Given the description of an element on the screen output the (x, y) to click on. 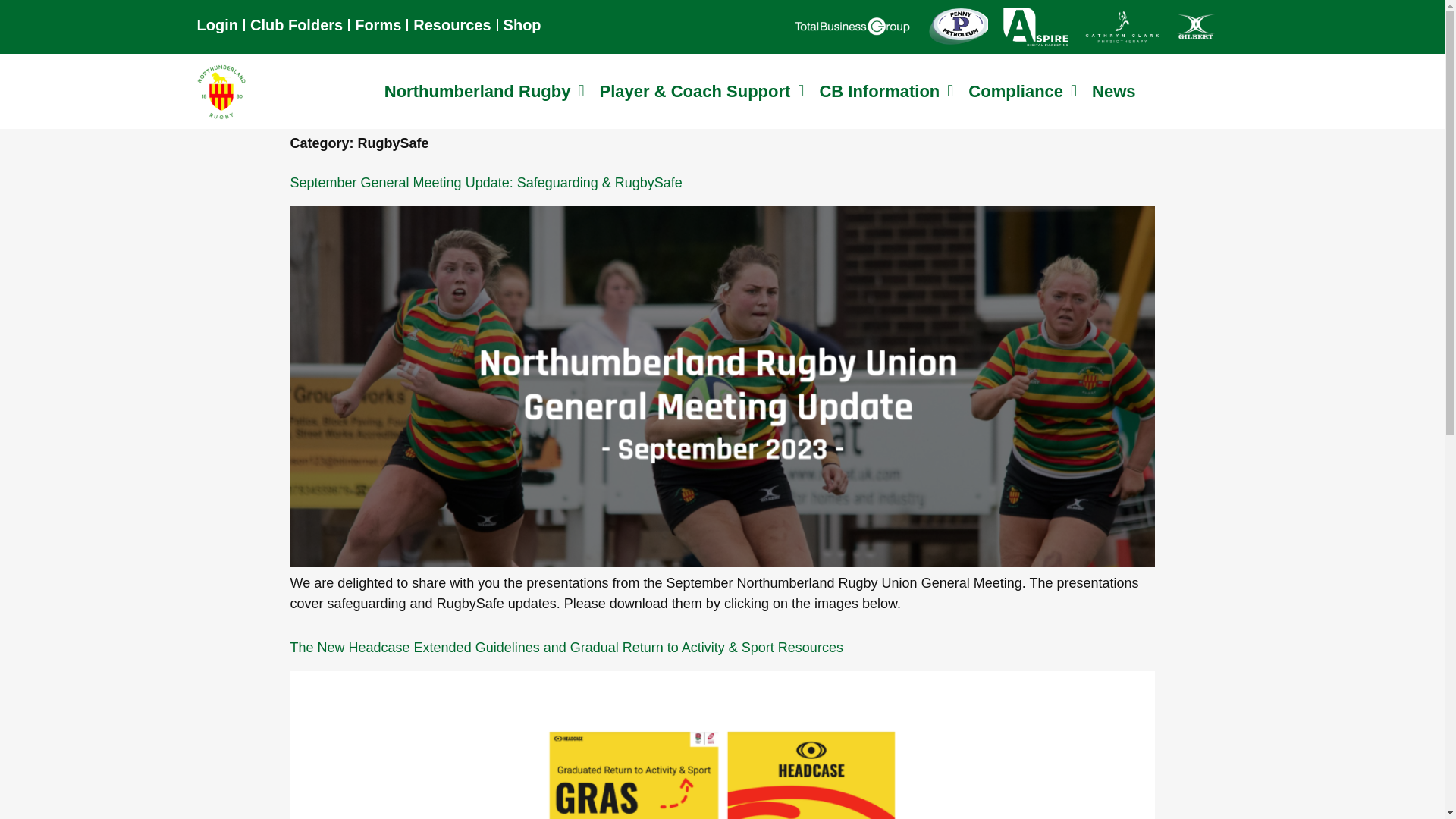
Northumberland Rugby (484, 91)
Forms (377, 24)
Club Folders (295, 24)
Login (216, 24)
Shop (522, 24)
Resources (451, 24)
